Given the description of an element on the screen output the (x, y) to click on. 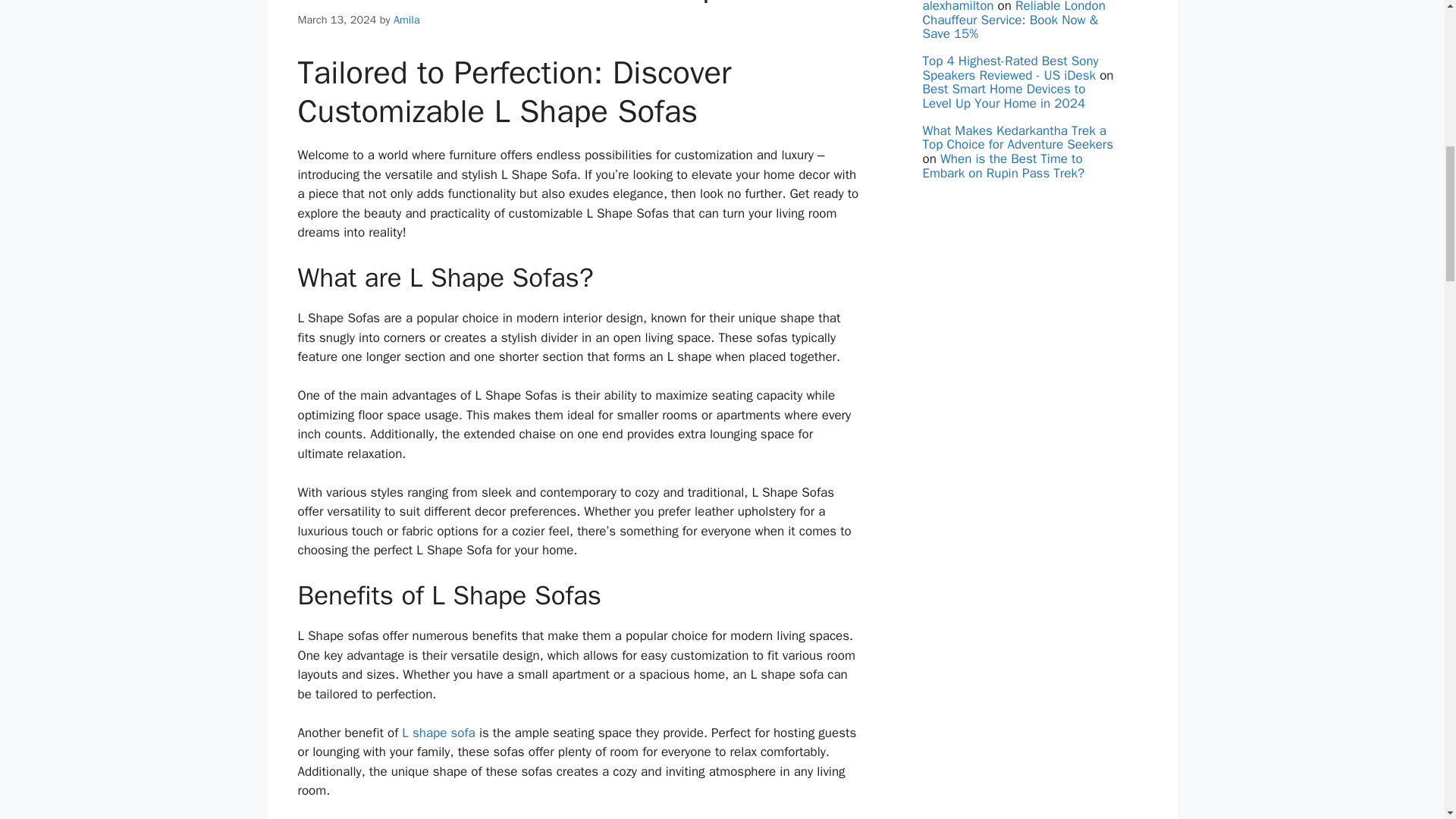
L shape sofa (437, 732)
Scroll back to top (1406, 720)
alexhamilton (956, 6)
Best Smart Home Devices to Level Up Your Home in 2024 (1002, 96)
When is the Best Time to Embark on Rupin Pass Trek? (1002, 165)
Top 4 Highest-Rated Best Sony Speakers Reviewed - US iDesk (1009, 68)
View all posts by Amila (406, 19)
Amila (406, 19)
